Given the description of an element on the screen output the (x, y) to click on. 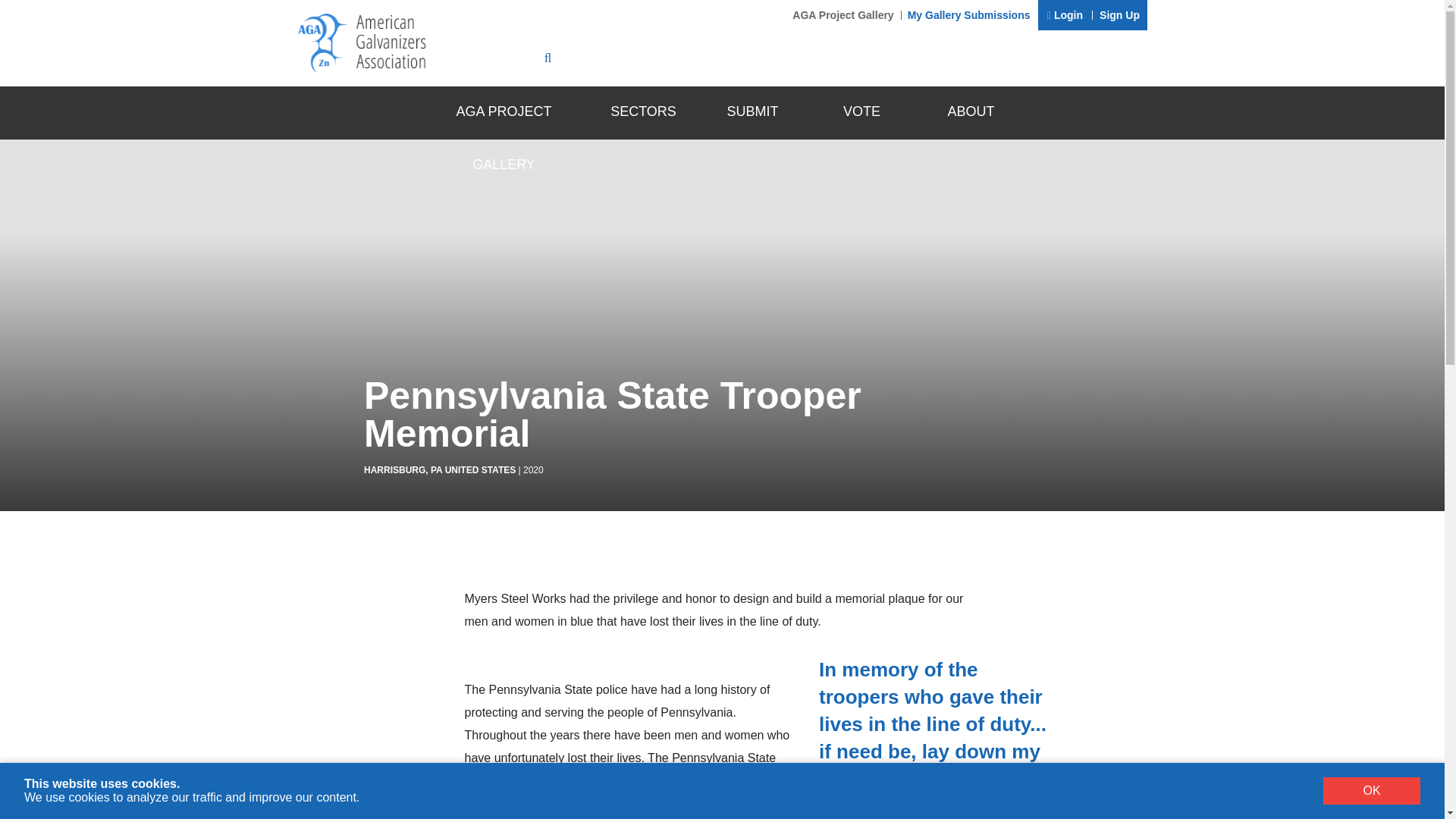
OK (1372, 790)
AGA Project Gallery (843, 15)
My Gallery Submissions (969, 15)
ABOUT (970, 112)
Login (1064, 15)
SECTORS (642, 112)
SUBMIT (751, 112)
Sign Up (1119, 15)
VOTE (860, 112)
AGA PROJECT GALLERY (503, 112)
